Given the description of an element on the screen output the (x, y) to click on. 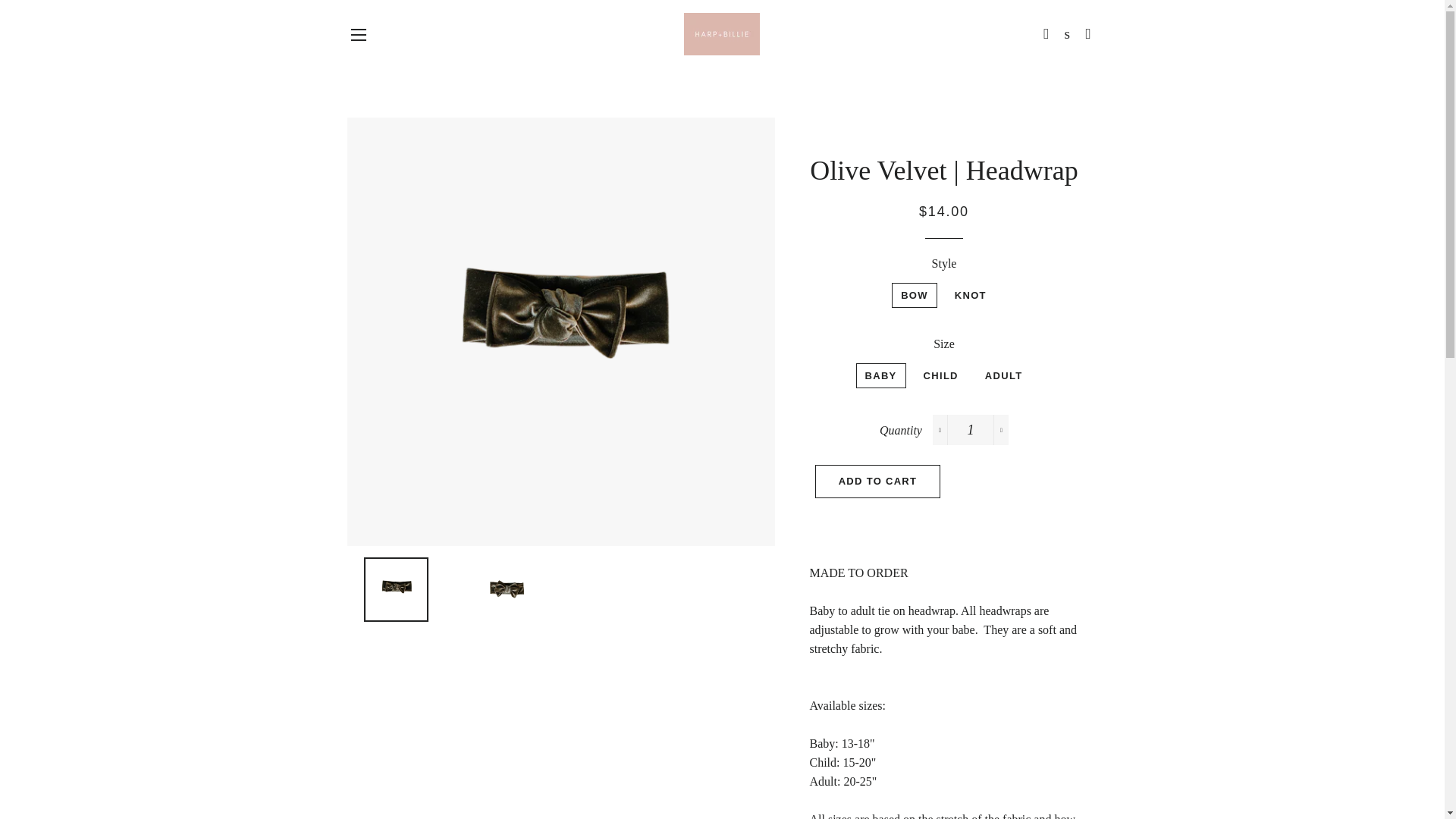
SITE NAVIGATION (358, 34)
1 (971, 429)
